Given the description of an element on the screen output the (x, y) to click on. 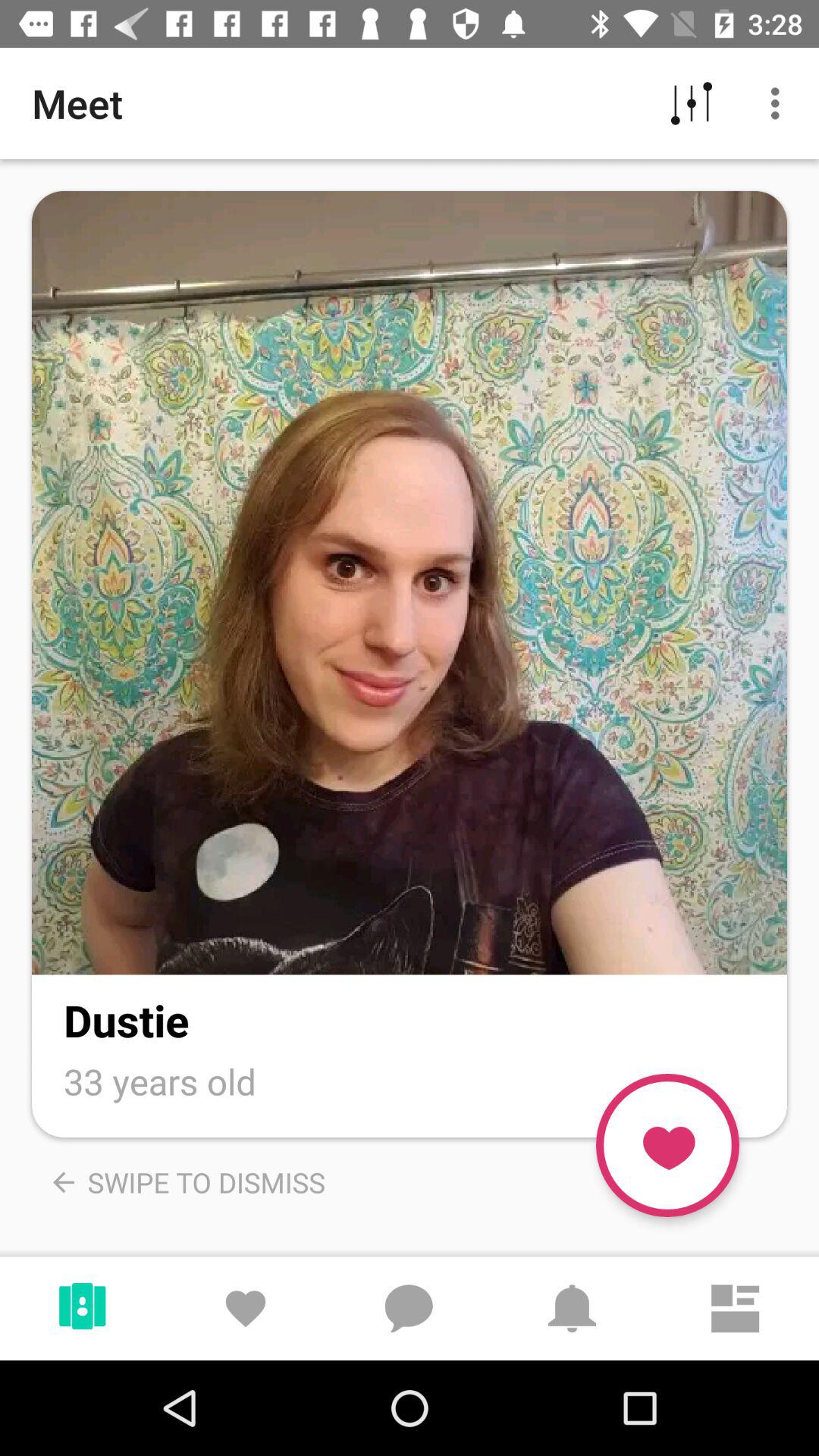
tap the item next to meet item (691, 103)
